Given the description of an element on the screen output the (x, y) to click on. 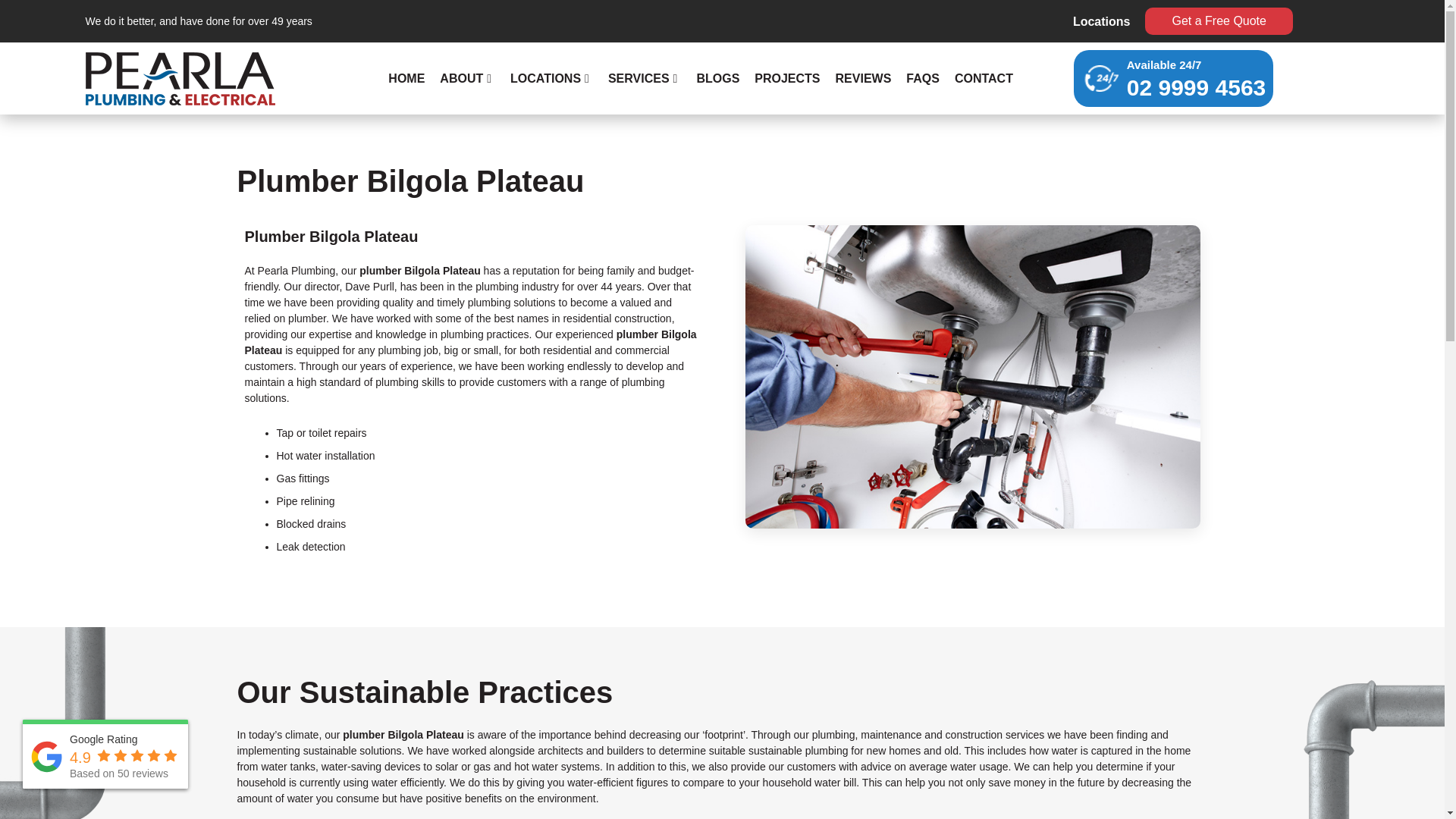
SERVICES (644, 78)
LOCATIONS (551, 78)
Get a Free Quote (1218, 21)
ABOUT (467, 78)
Locations (1102, 21)
